Given the description of an element on the screen output the (x, y) to click on. 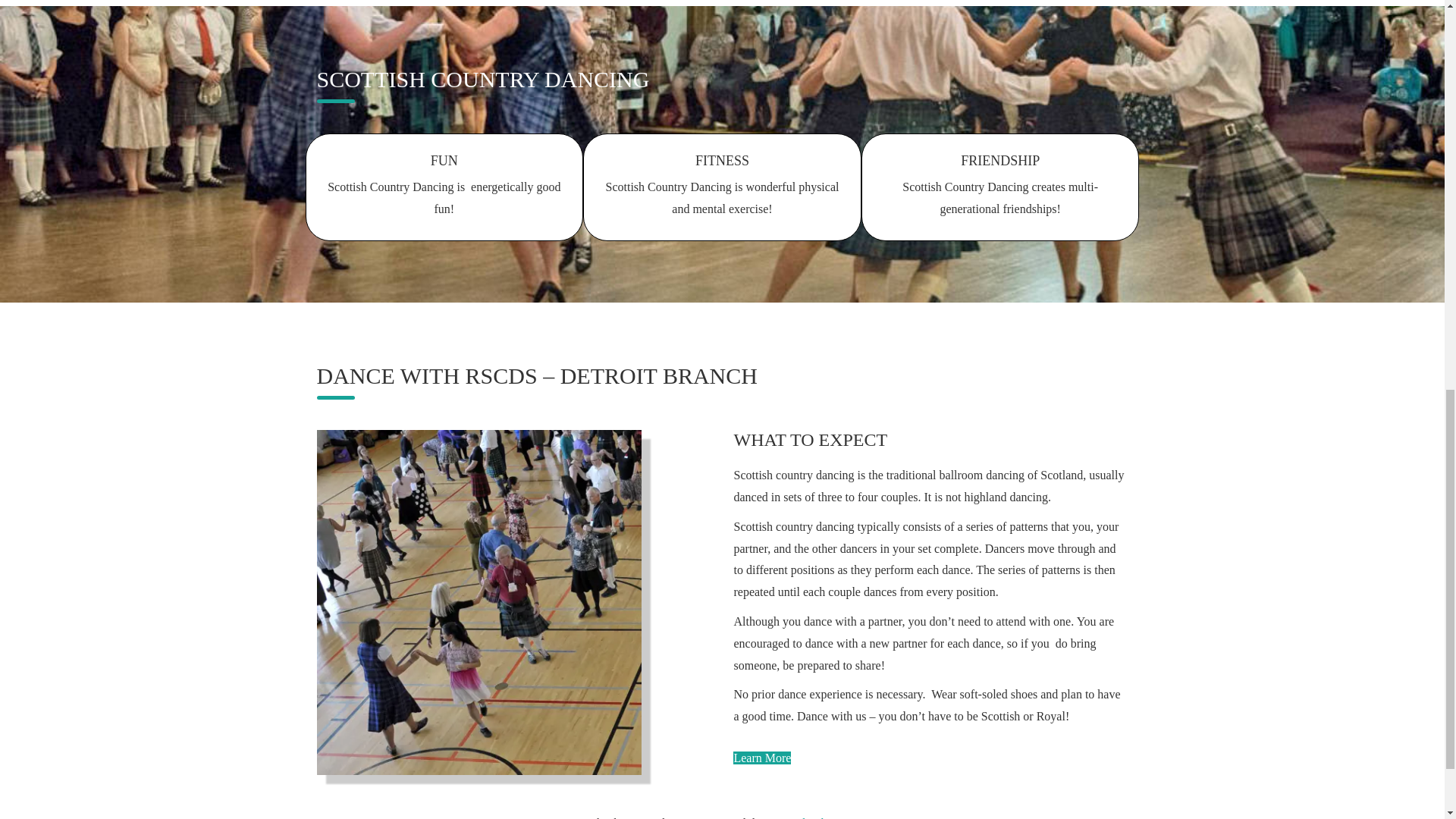
Learn More (761, 757)
Facebook page. (817, 817)
